Given the description of an element on the screen output the (x, y) to click on. 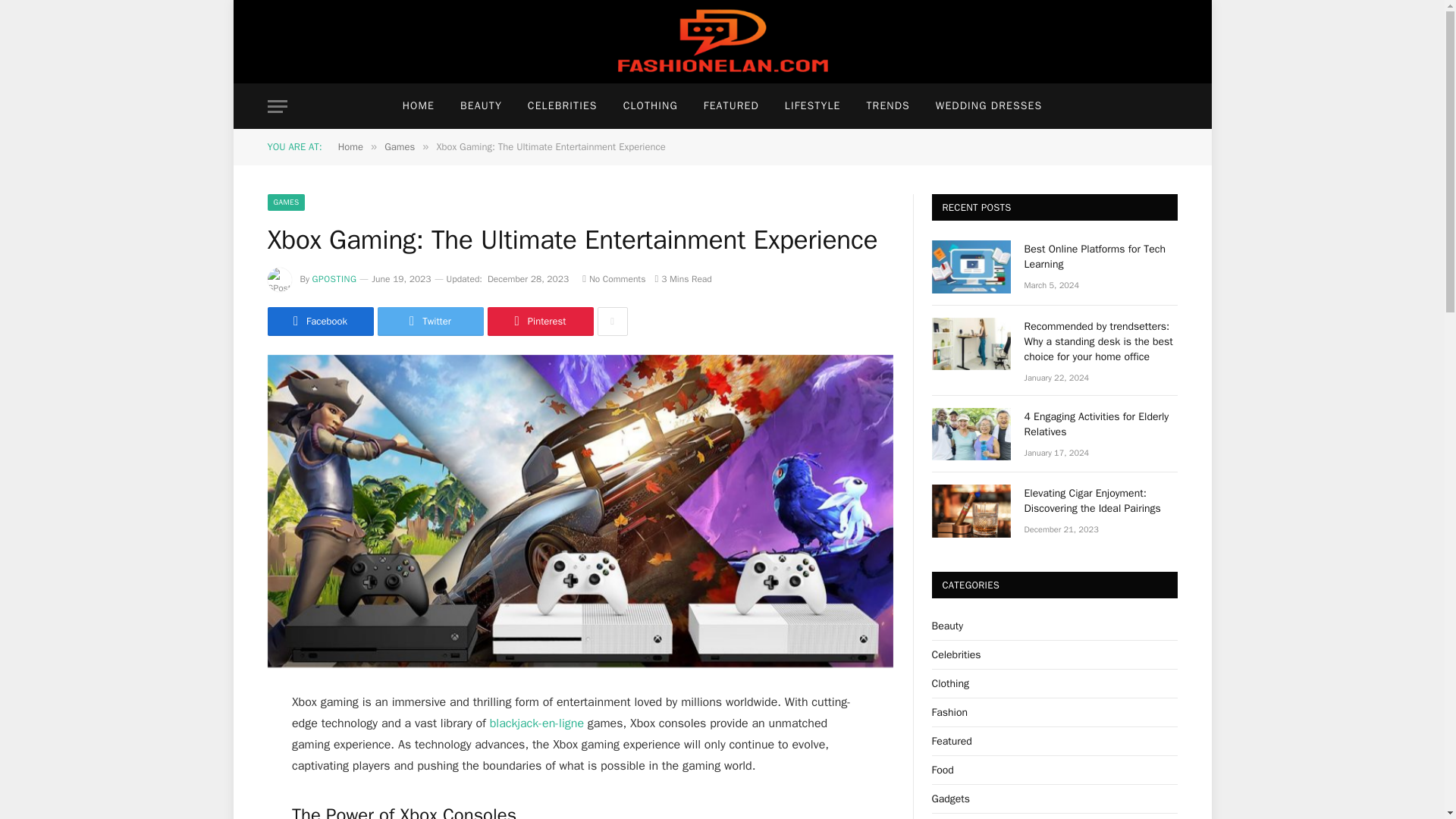
LIFESTYLE (812, 105)
blackjack-en-ligne (536, 723)
Show More Social Sharing (611, 321)
Games (399, 146)
WEDDING DRESSES (988, 105)
Home (349, 146)
GAMES (285, 202)
Facebook (319, 321)
CLOTHING (650, 105)
BEAUTY (480, 105)
HOME (418, 105)
Pinterest (539, 321)
Posts by GPosting (334, 278)
No Comments (613, 278)
Twitter (430, 321)
